Given the description of an element on the screen output the (x, y) to click on. 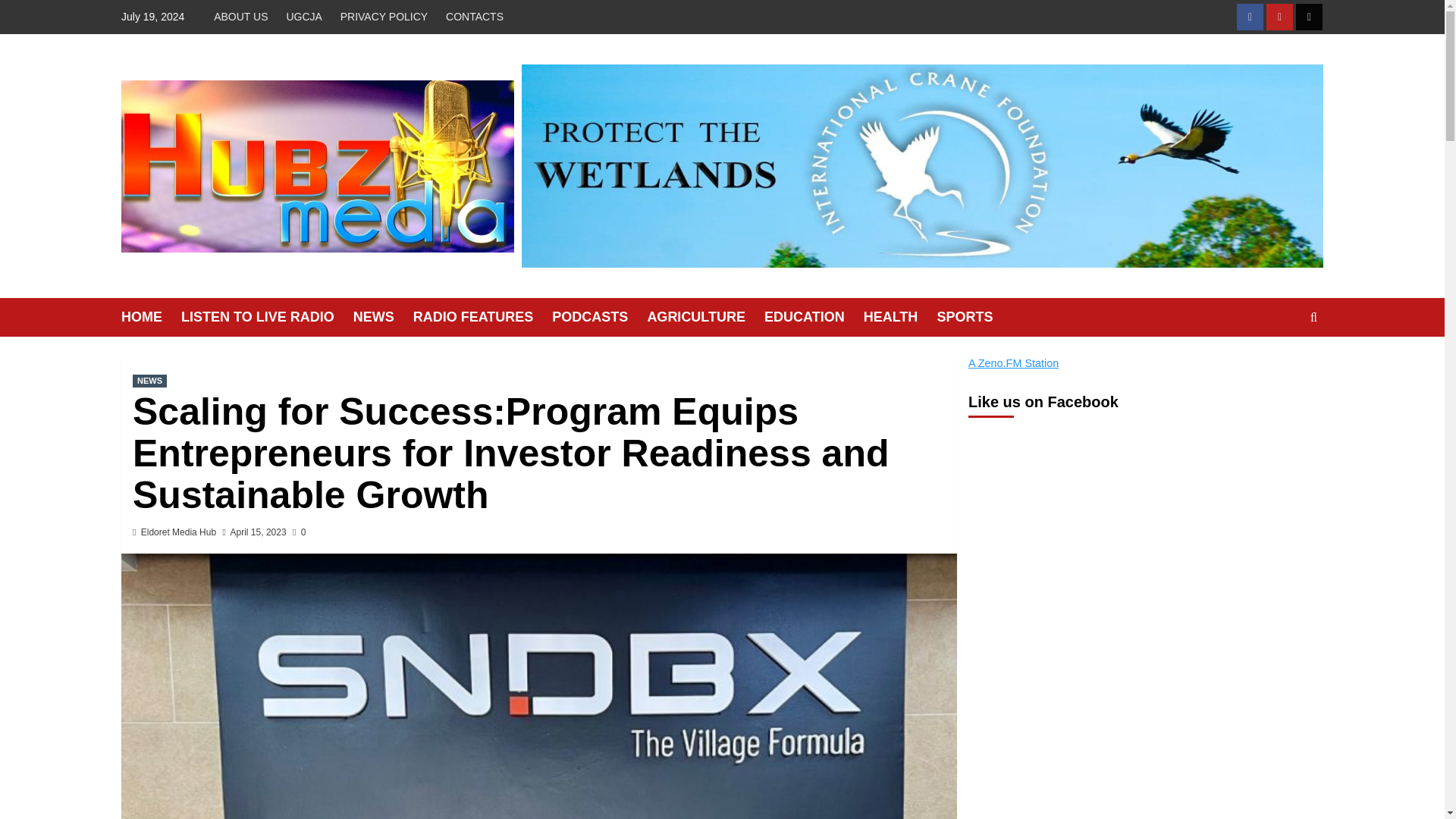
CONTACTS (474, 17)
YOUTUBE (1279, 17)
Eldoret Media Hub (178, 532)
April 15, 2023 (258, 532)
LISTEN TO LIVE RADIO (266, 317)
TWITTER (1308, 17)
0 (298, 532)
PRIVACY POLICY (384, 17)
EDUCATION (813, 317)
FACEBOOK (1249, 17)
AGRICULTURE (705, 317)
PODCASTS (598, 317)
HOME (150, 317)
Search (1278, 364)
HEALTH (900, 317)
